Given the description of an element on the screen output the (x, y) to click on. 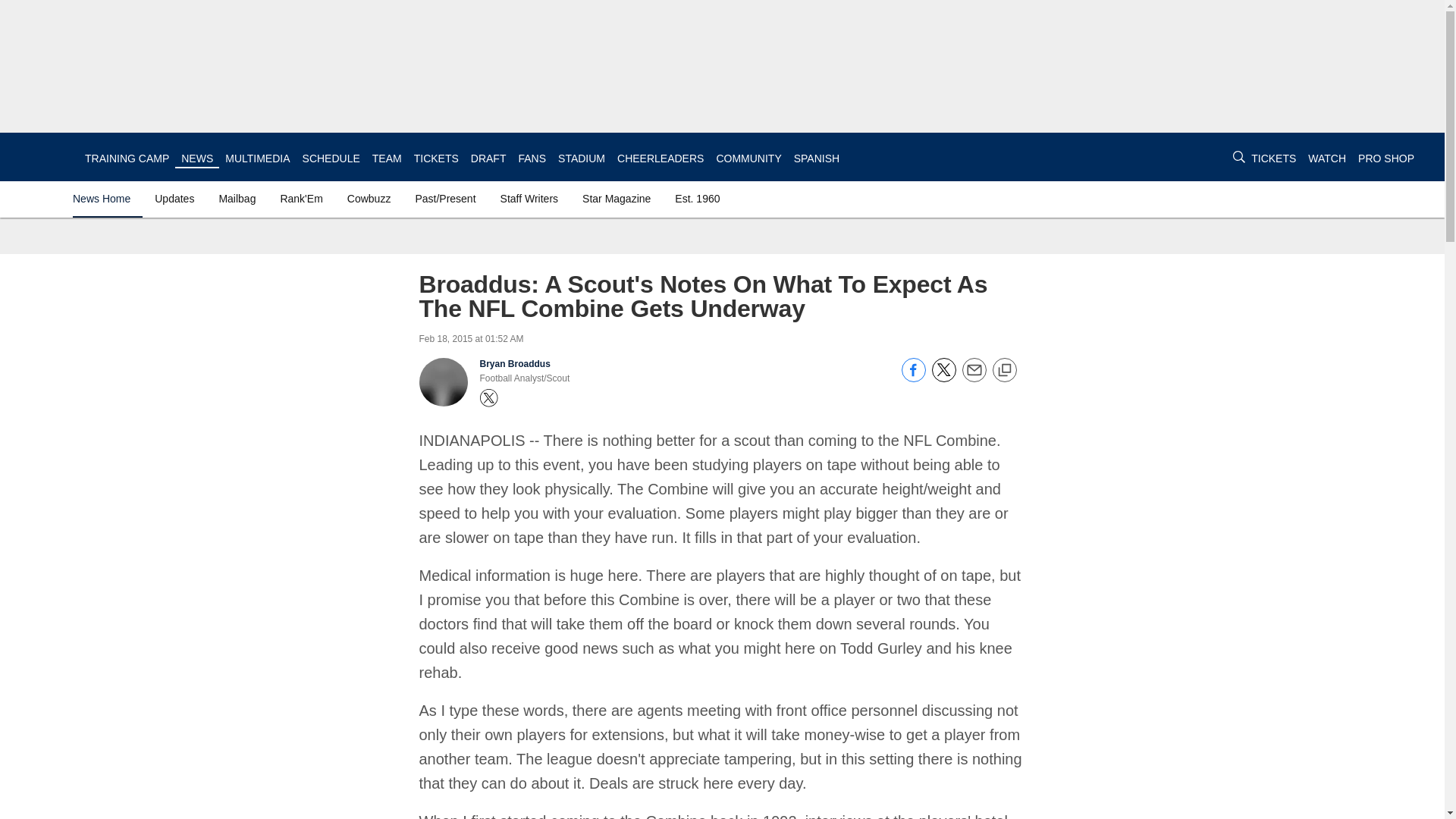
FANS (532, 158)
CHEERLEADERS (660, 158)
News Home (104, 198)
Staff Writers (529, 198)
MULTIMEDIA (257, 158)
Rank'Em (301, 198)
TRAINING CAMP (126, 158)
SPANISH (816, 158)
TICKETS (1272, 158)
Bryan Broaddus (514, 363)
